Given the description of an element on the screen output the (x, y) to click on. 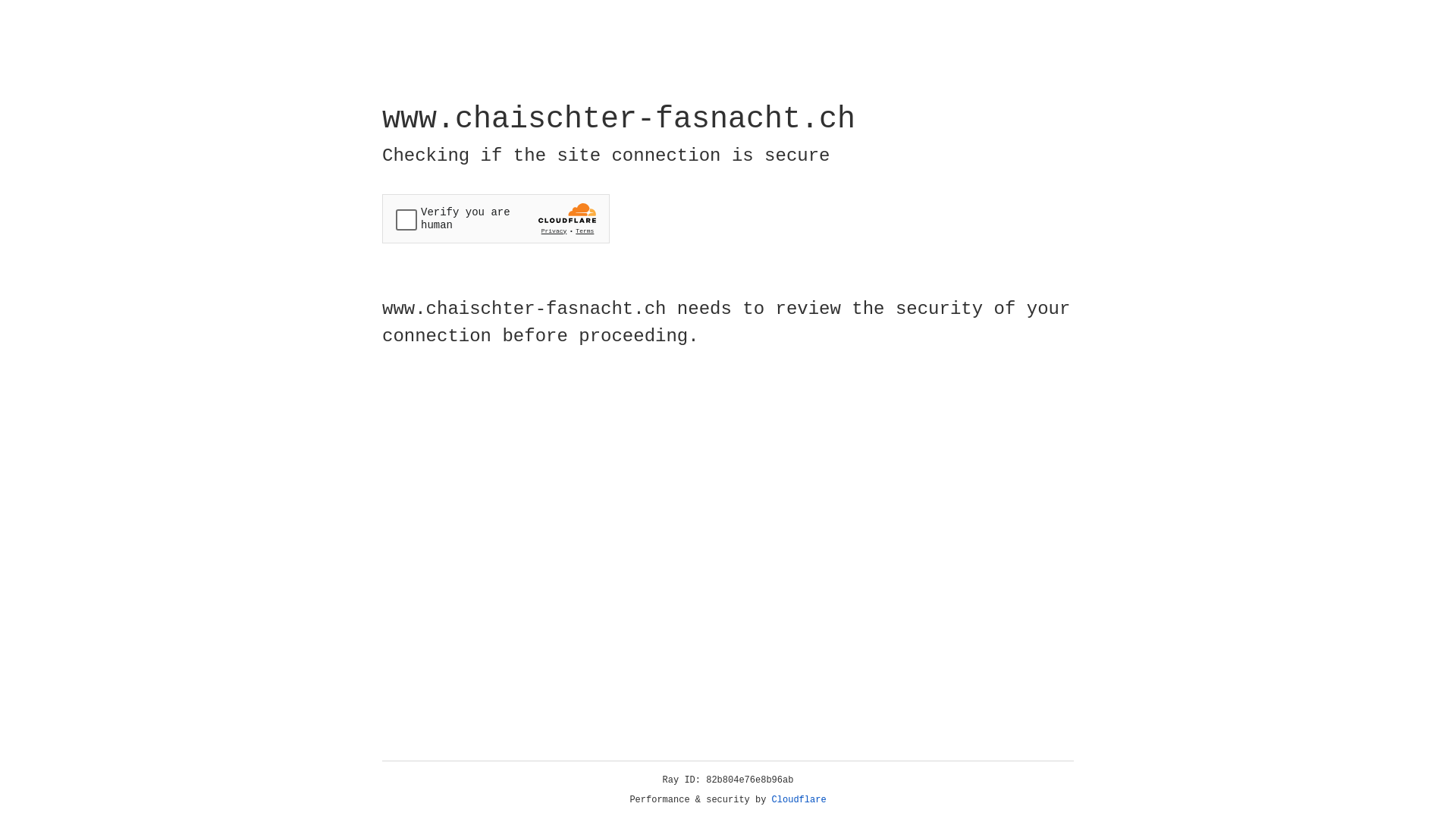
Cloudflare Element type: text (798, 799)
Widget containing a Cloudflare security challenge Element type: hover (495, 218)
